Given the description of an element on the screen output the (x, y) to click on. 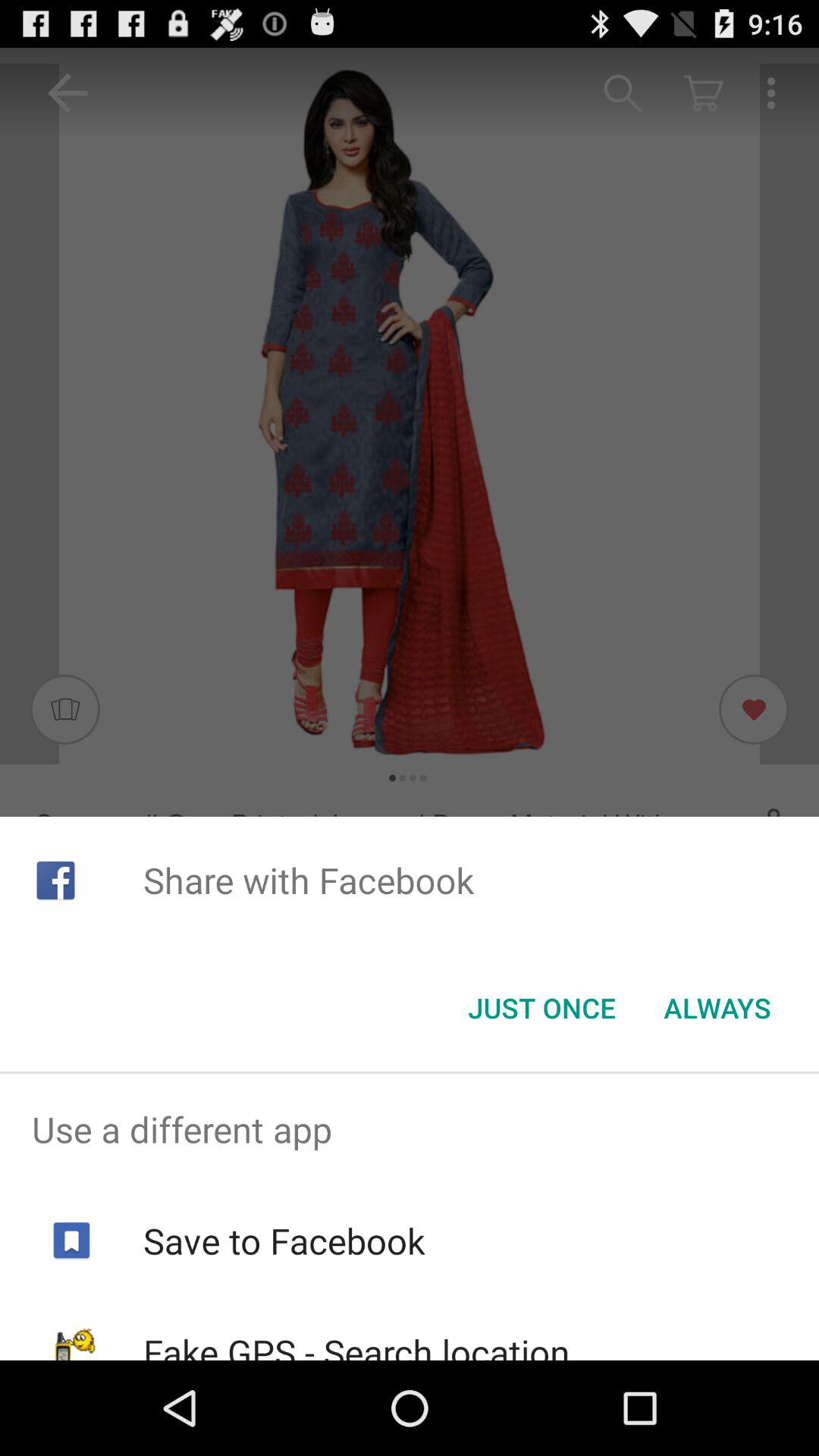
launch fake gps search app (356, 1344)
